Given the description of an element on the screen output the (x, y) to click on. 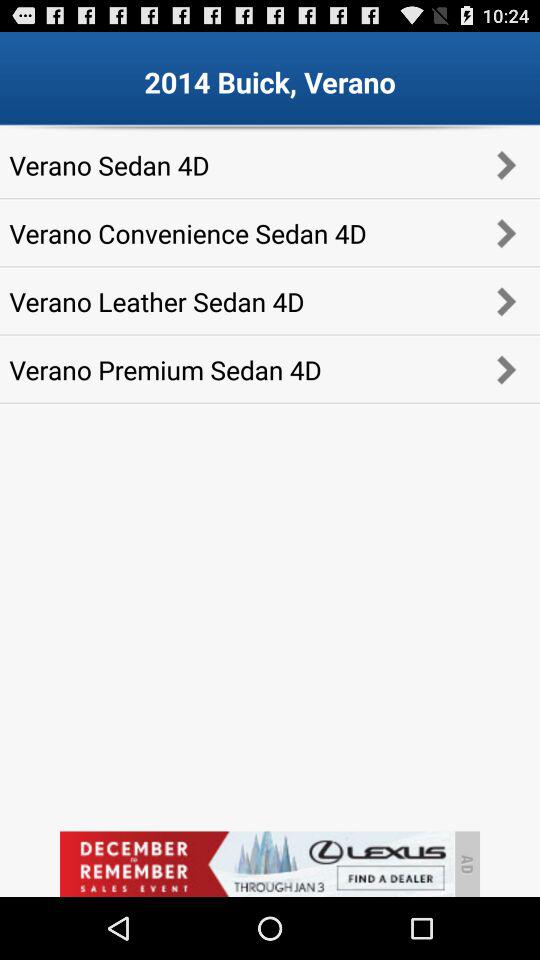
open the advertisement (256, 864)
